Given the description of an element on the screen output the (x, y) to click on. 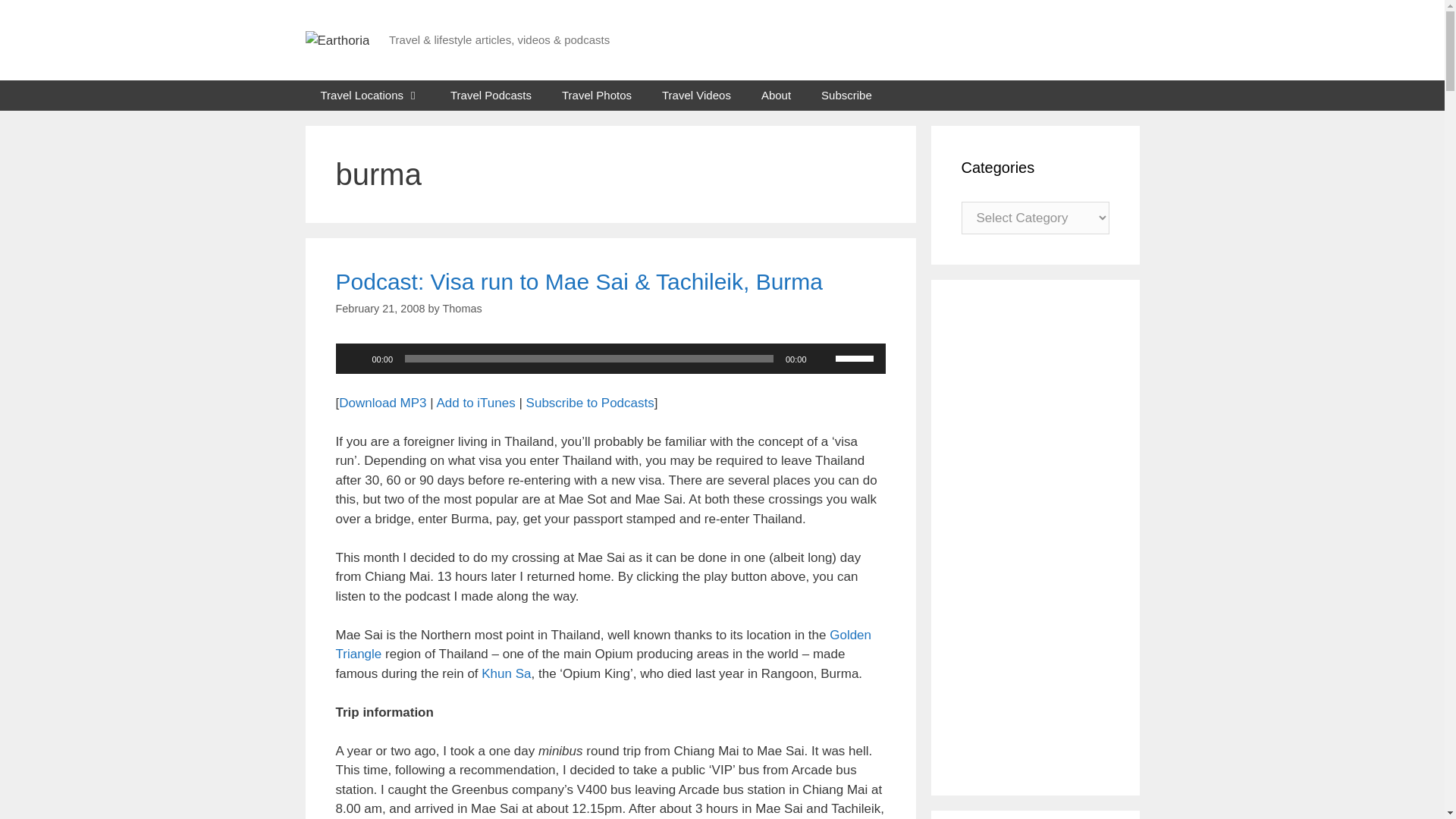
Download MP3 (382, 402)
Travel Photos (596, 95)
View all posts by Thomas (461, 308)
Add to iTunes (475, 402)
February 21, 2008 (379, 308)
12:37 pm (379, 308)
Mute (823, 358)
Subscribe (846, 95)
Subscribe to Podcasts (589, 402)
Earthoria (336, 39)
